Given the description of an element on the screen output the (x, y) to click on. 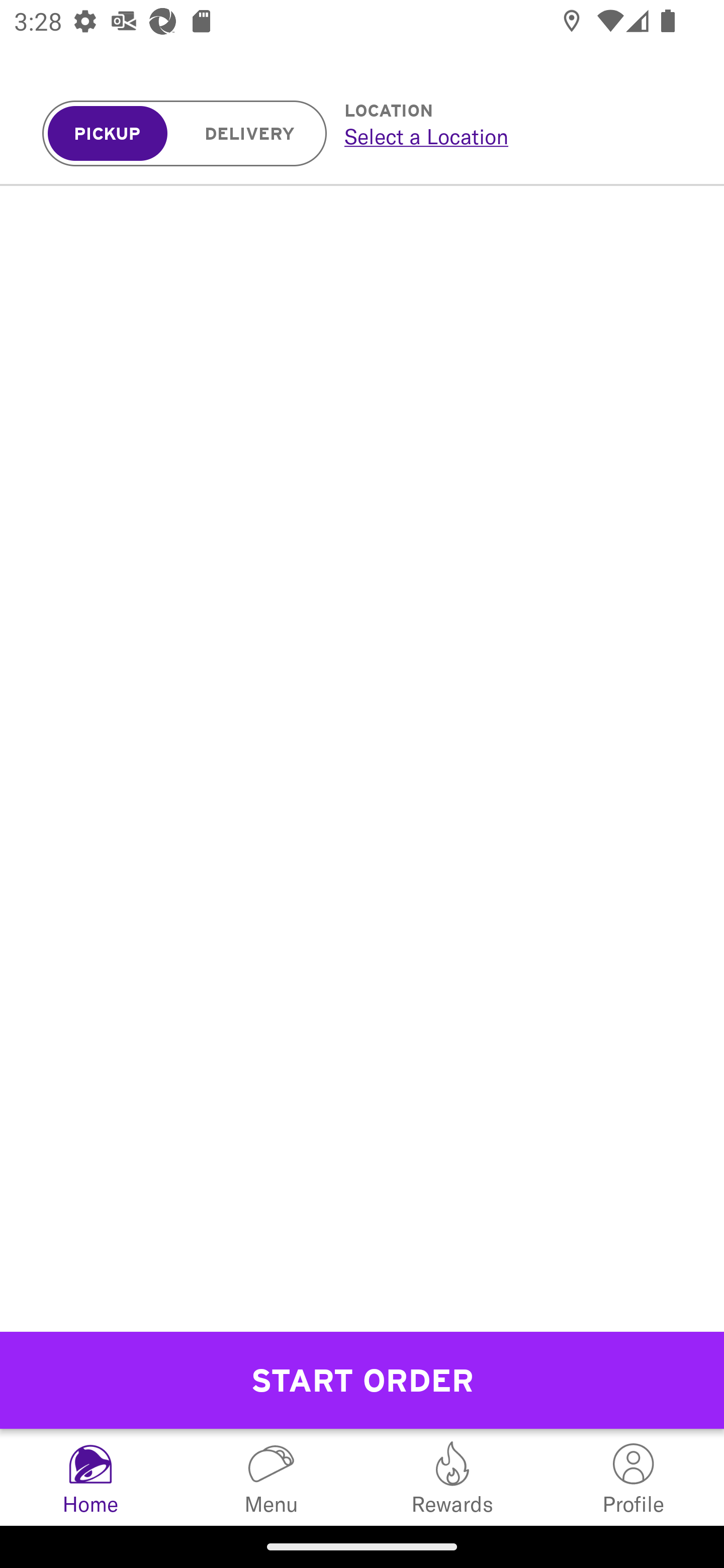
PICKUP (107, 133)
DELIVERY (249, 133)
Select a Location (511, 136)
START ORDER (362, 1379)
Home (90, 1476)
Menu (271, 1476)
Rewards (452, 1476)
My Info Profile (633, 1476)
